Given the description of an element on the screen output the (x, y) to click on. 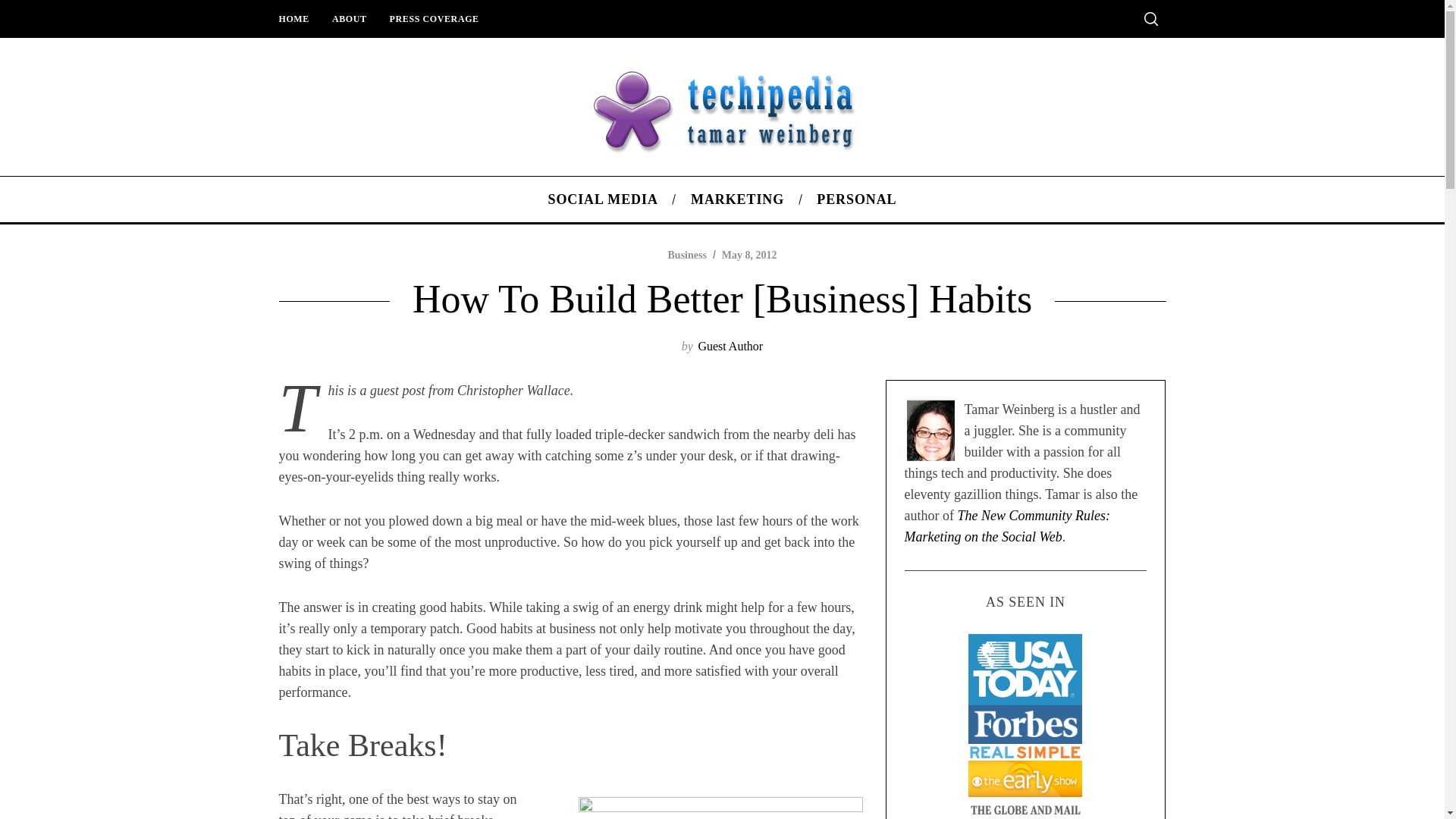
HOME (293, 18)
ABOUT (349, 18)
PRESS COVERAGE (434, 18)
